Given the description of an element on the screen output the (x, y) to click on. 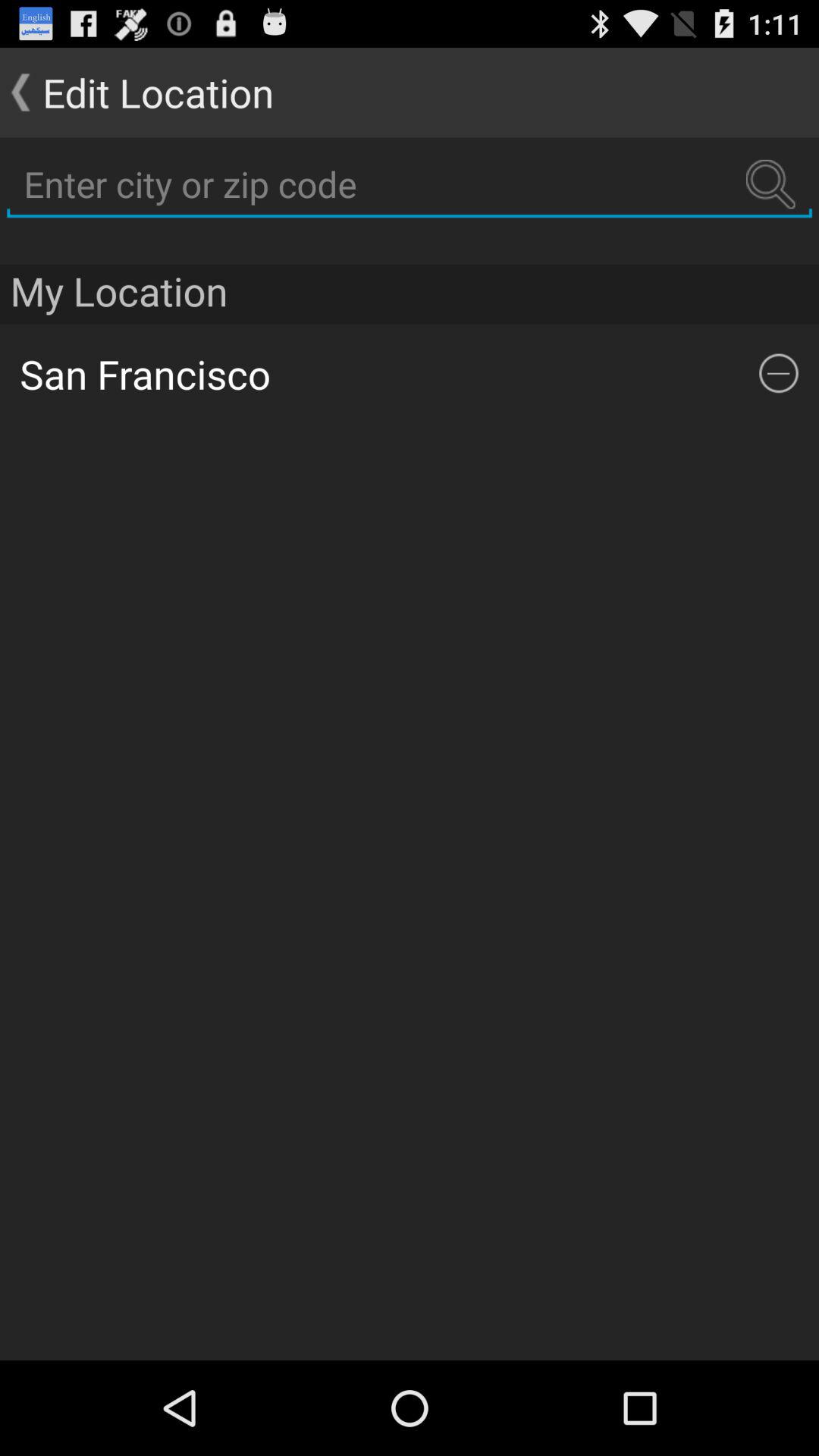
press the san francisco app (399, 373)
